Given the description of an element on the screen output the (x, y) to click on. 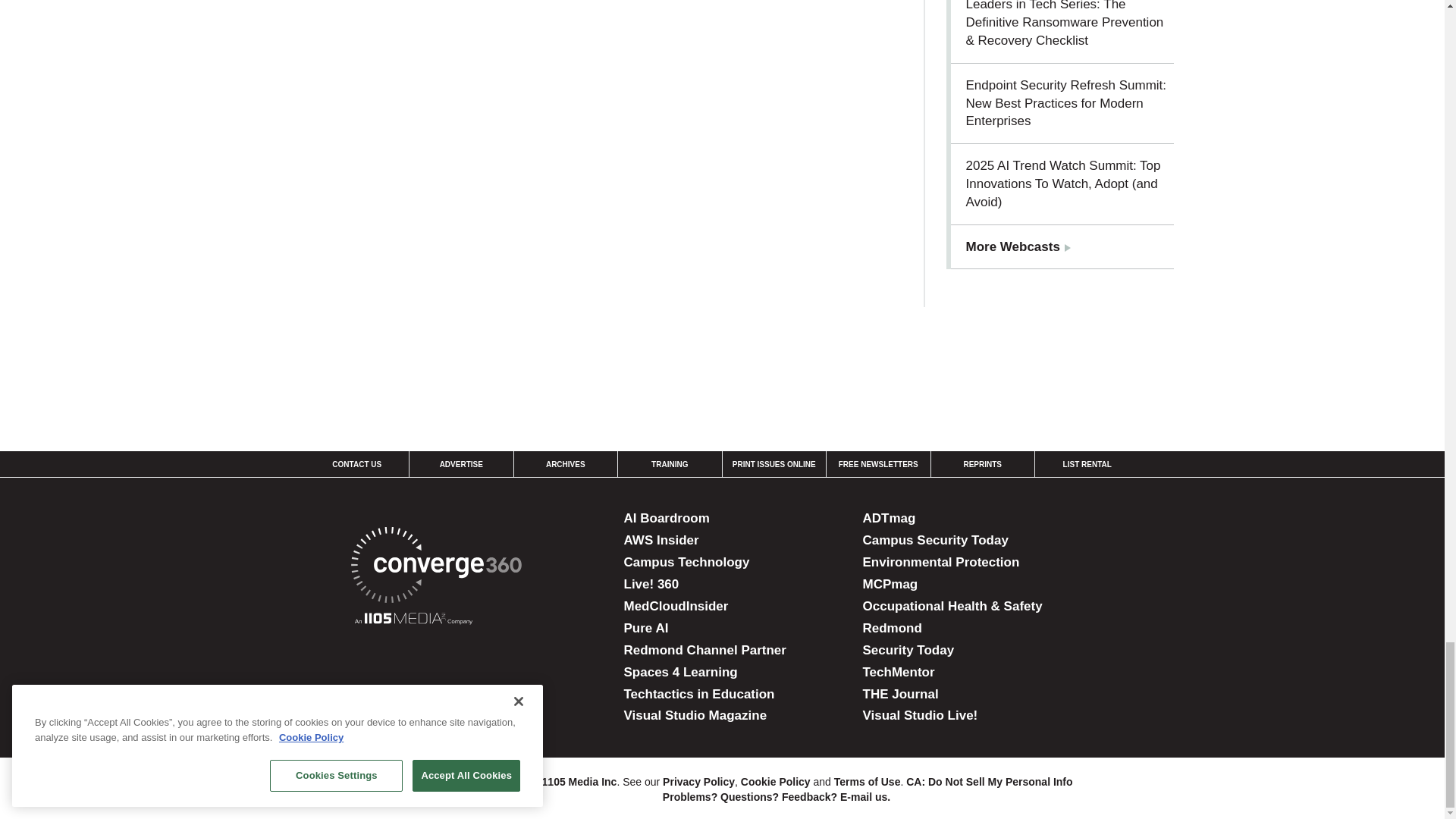
3rd party ad content (721, 359)
